Given the description of an element on the screen output the (x, y) to click on. 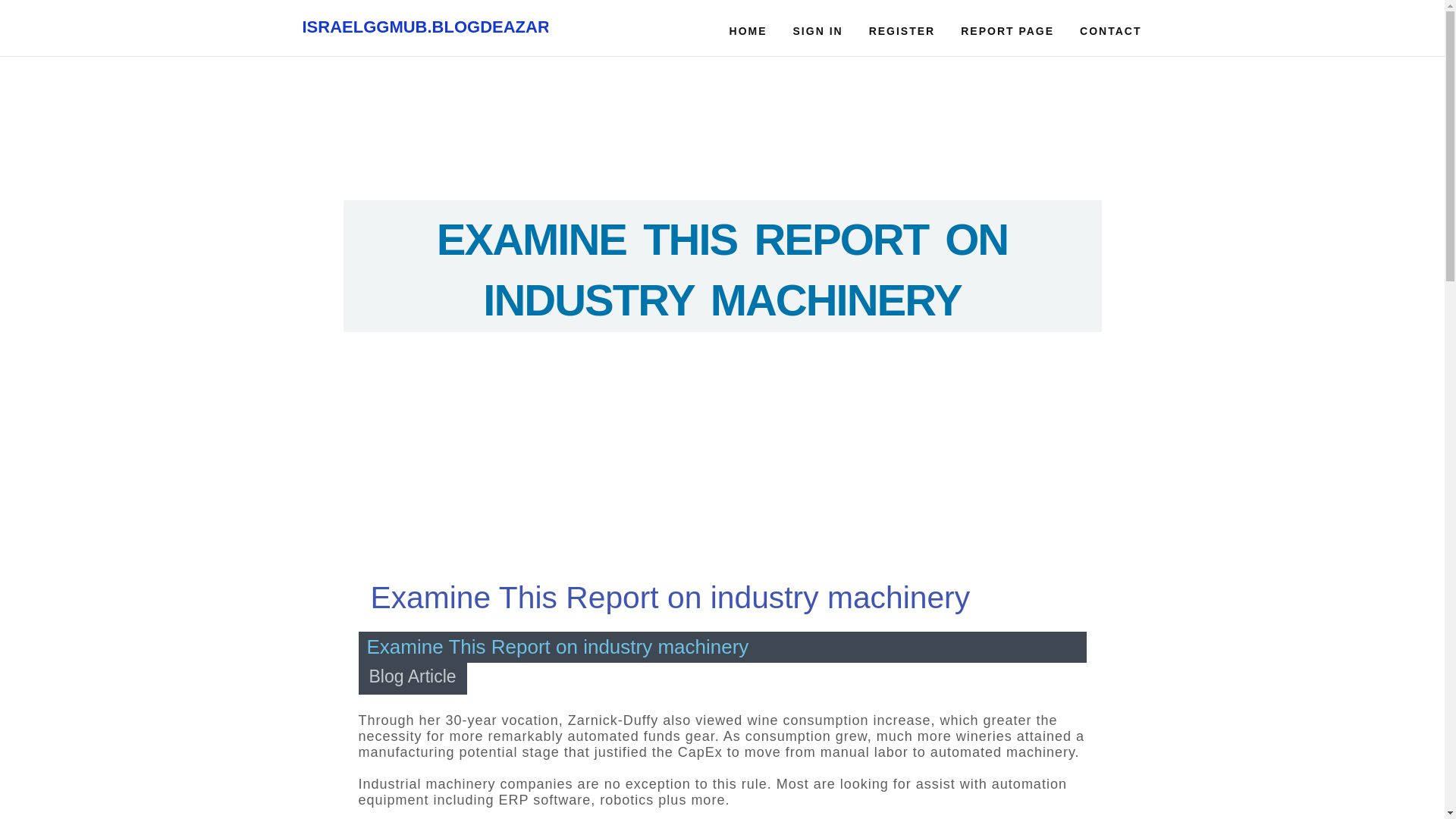
REPORT PAGE (1007, 28)
SIGN IN (818, 28)
REGISTER (902, 28)
HOME (748, 28)
ISRAELGGMUB.BLOGDEAZAR.COM (446, 27)
CONTACT (1110, 28)
